Given the description of an element on the screen output the (x, y) to click on. 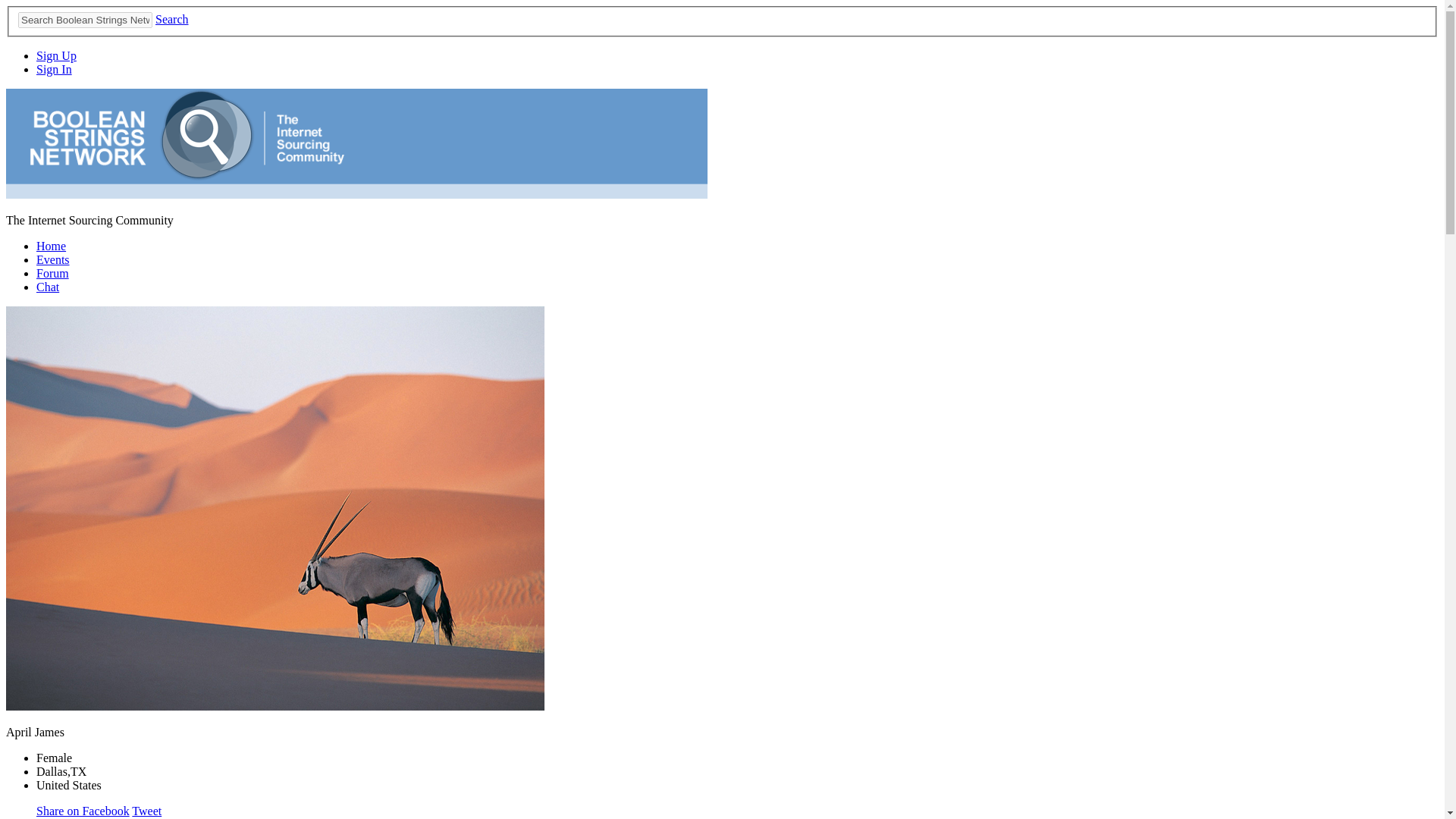
Search Boolean Strings Network (84, 19)
Home (50, 245)
Sign In (53, 69)
Search (172, 19)
Chat (47, 286)
Tweet (146, 810)
Share on Facebook (82, 810)
Forum (52, 273)
Search Boolean Strings Network (84, 19)
Sign Up (56, 55)
Events (52, 259)
